Given the description of an element on the screen output the (x, y) to click on. 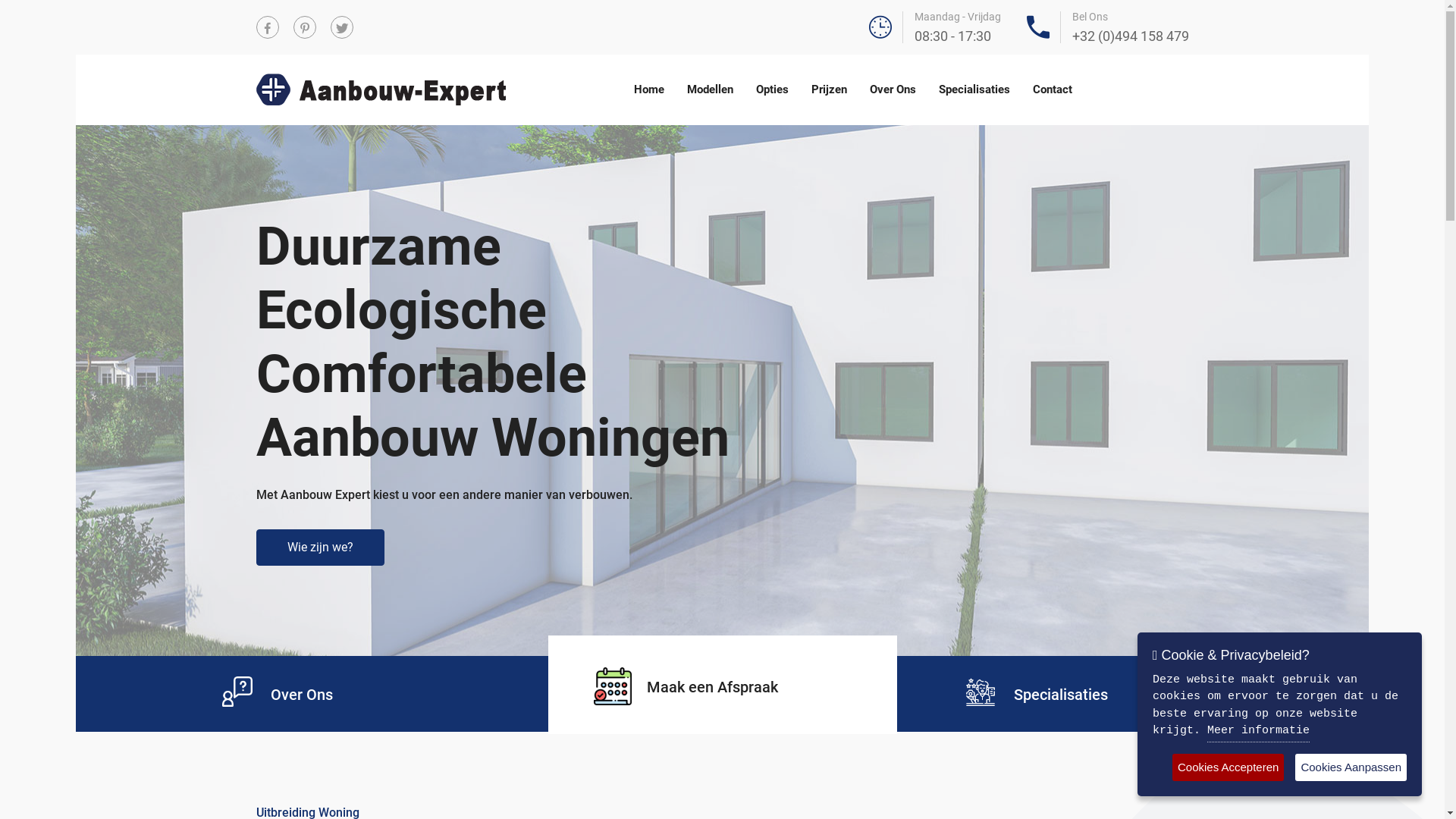
Meer informatie Element type: text (1258, 732)
Modellen Element type: text (710, 89)
Contact Element type: text (1052, 89)
Cookies Accepteren Element type: text (1227, 767)
Cookies Aanpassen Element type: text (1350, 767)
Specialisaties Element type: text (974, 89)
Over Ons Element type: text (300, 692)
Prijzen Element type: text (829, 89)
+32 (0)494 158 479 Element type: text (1130, 36)
Home Element type: text (648, 89)
Over Ons Element type: text (892, 89)
Wie zijn we? Element type: text (320, 547)
Opties Element type: text (772, 89)
Specialisaties Element type: text (1060, 692)
Maak een Afspraak Element type: text (685, 688)
